Given the description of an element on the screen output the (x, y) to click on. 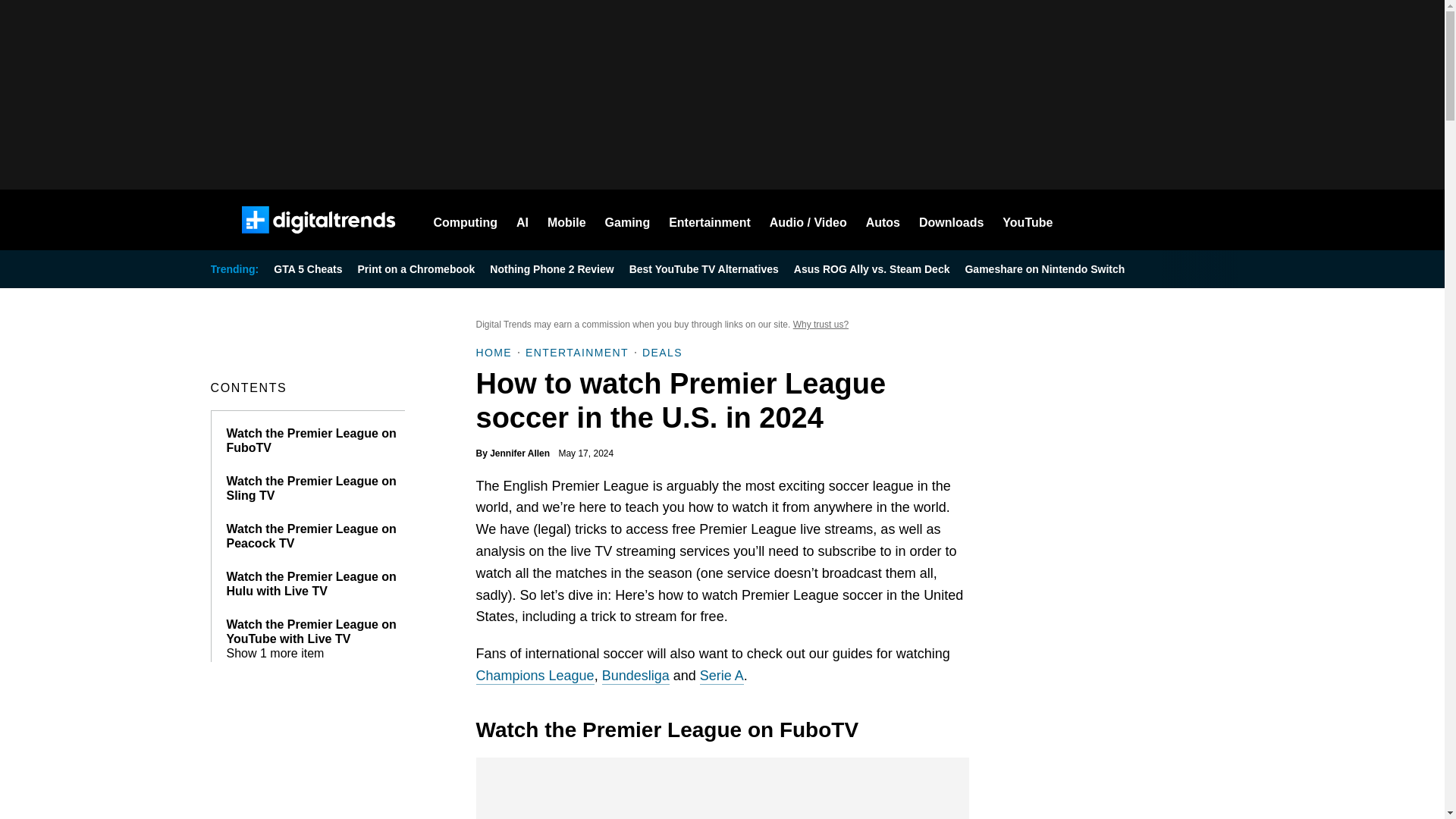
Entertainment (709, 219)
Downloads (951, 219)
Computing (465, 219)
